Given the description of an element on the screen output the (x, y) to click on. 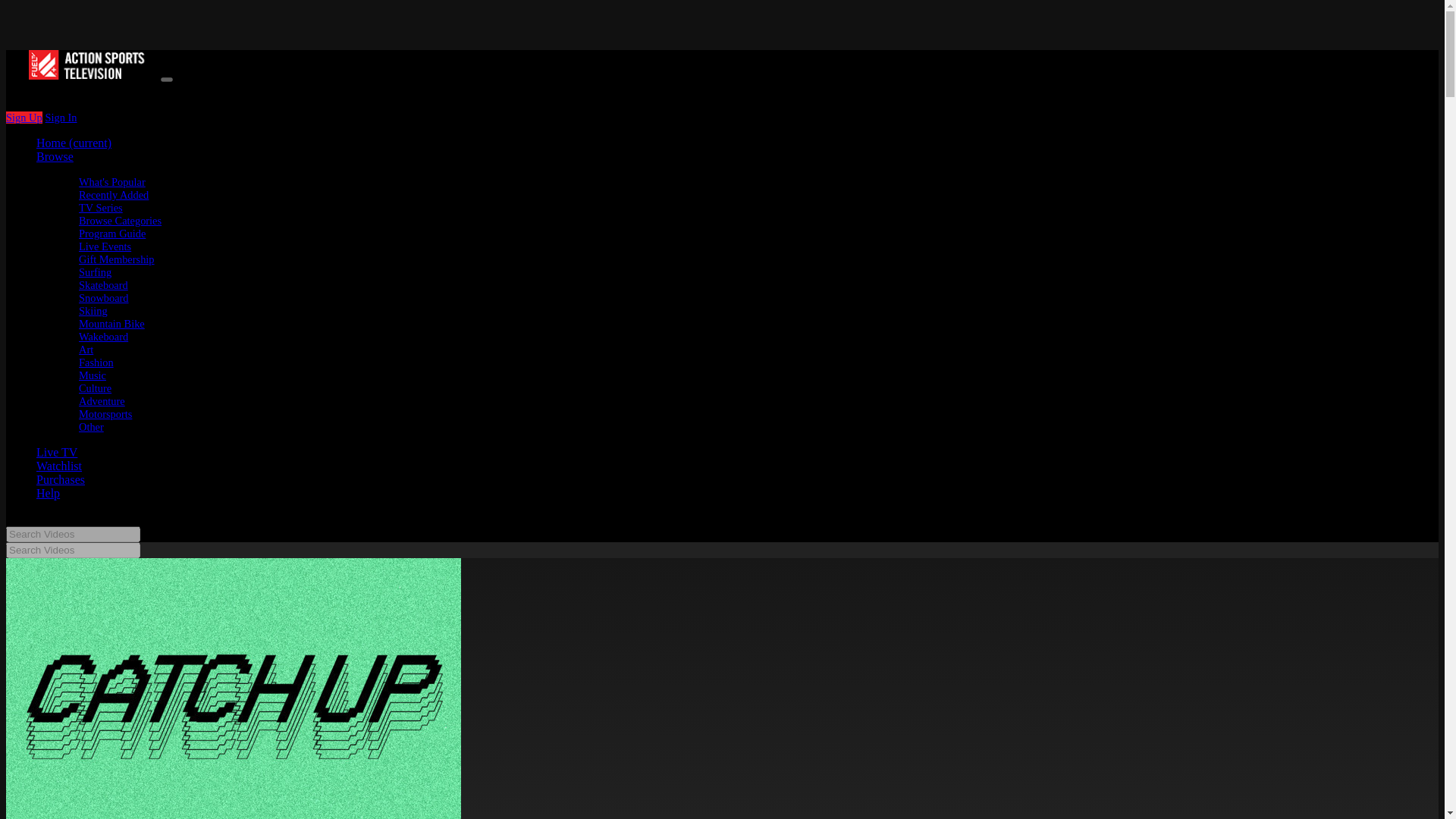
TV Series (100, 207)
Help (47, 492)
What's Popular (111, 182)
Surfing (95, 272)
Purchases (60, 479)
Fashion (95, 362)
Watchlist (58, 465)
Browse (55, 155)
Other (90, 426)
Program Guide (111, 233)
Sign In (61, 117)
Skiing (92, 310)
Culture (95, 387)
Mountain Bike (111, 323)
Music (92, 375)
